Given the description of an element on the screen output the (x, y) to click on. 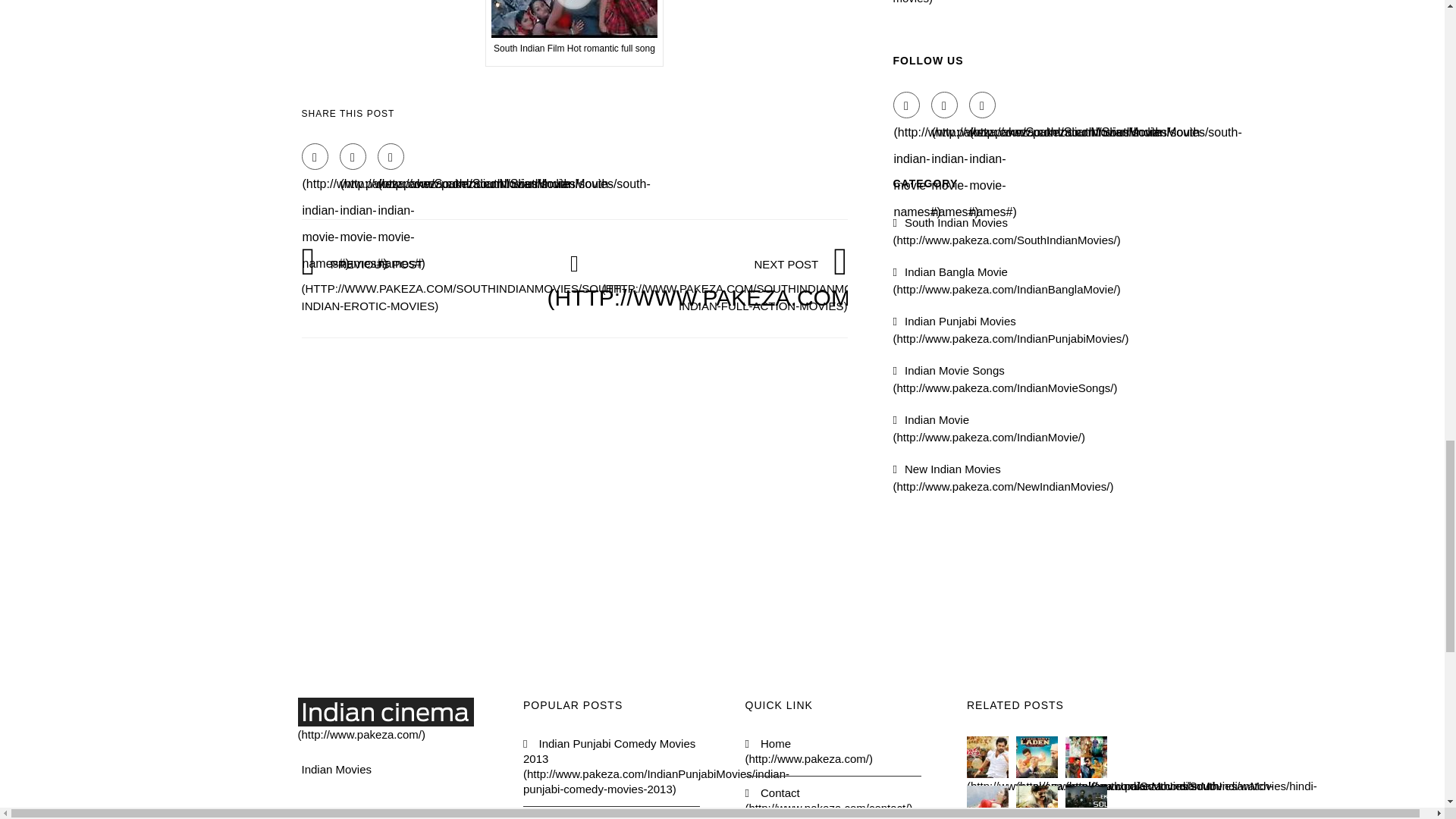
View all posts filed under Indian Punjabi Movies (1011, 329)
Facebook (315, 156)
View all posts filed under Indian Movie (988, 428)
View all posts filed under South Indian Movies (1007, 231)
Google Plus (390, 156)
View all posts filed under New Indian Movies (1003, 477)
View all posts filed under Indian Movie Songs (1005, 378)
Indian Punjabi Comedy Movies 2013 (611, 765)
View this video from Dailymotion (573, 33)
Facebook (906, 104)
